Given the description of an element on the screen output the (x, y) to click on. 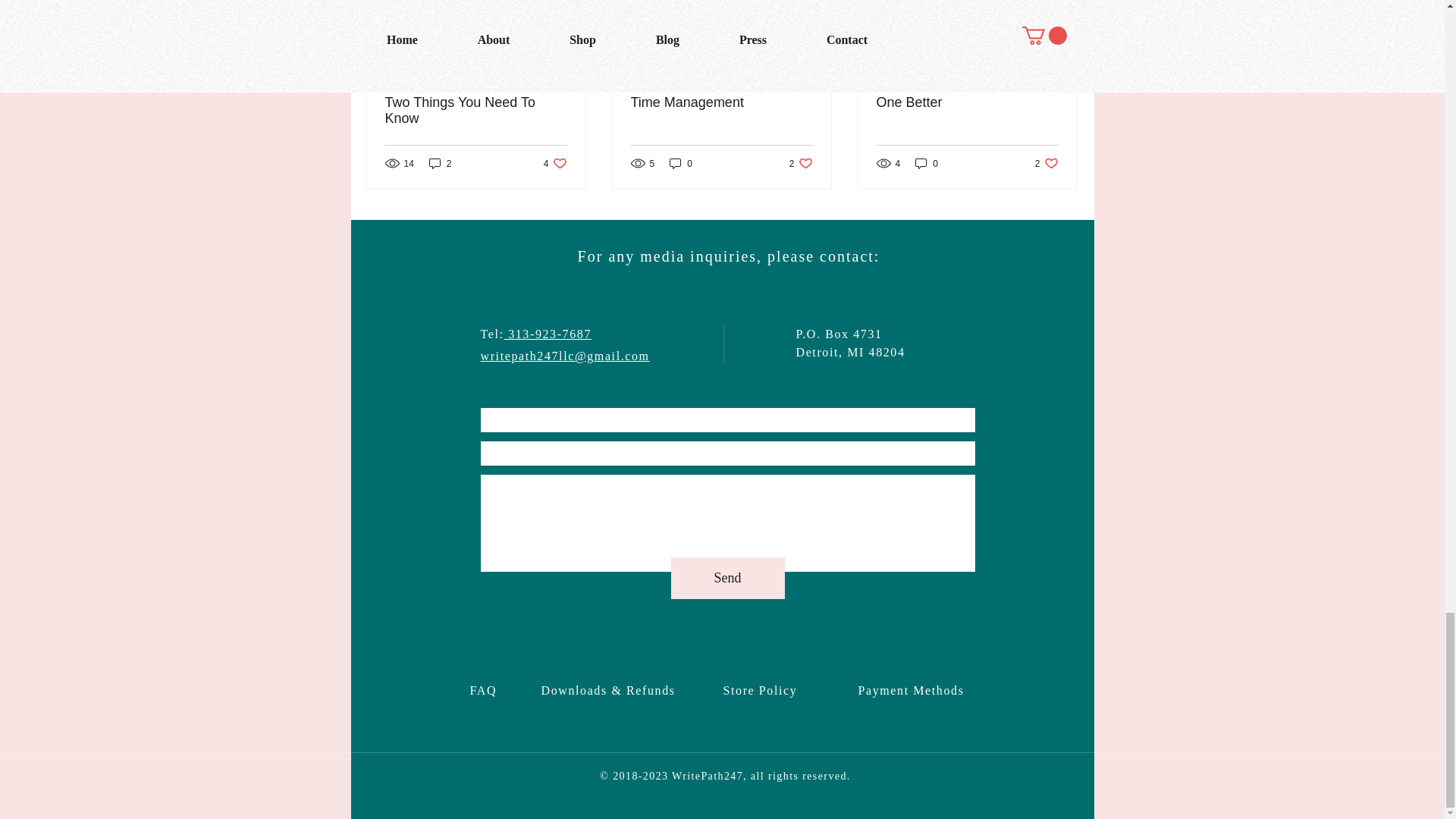
0 (681, 163)
2 (440, 163)
Time Management (721, 102)
Two Things You Need To Know (555, 163)
0 (476, 110)
One Better (800, 163)
